Given the description of an element on the screen output the (x, y) to click on. 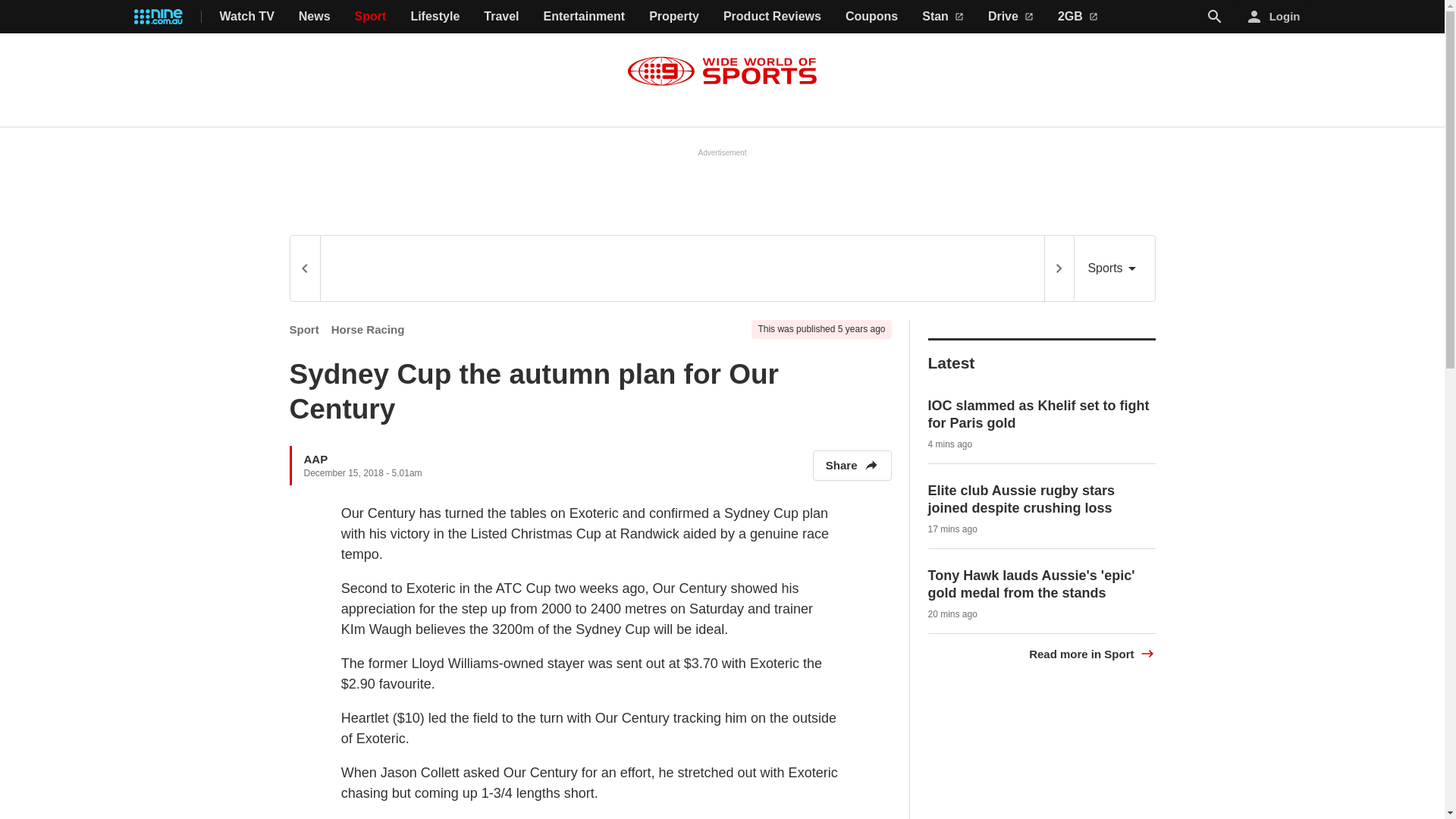
Horse Racing (367, 328)
Product Reviews (772, 16)
Tony Hawk lauds Aussie's 'epic' gold medal from the stands (1031, 584)
Travel (500, 16)
Sport (371, 16)
Lifestyle (435, 16)
IOC slammed as Khelif set to fight for Paris gold (1039, 414)
Drive (1010, 16)
Elite club Aussie rugby stars joined despite crushing loss (1021, 499)
Sport (303, 328)
